Given the description of an element on the screen output the (x, y) to click on. 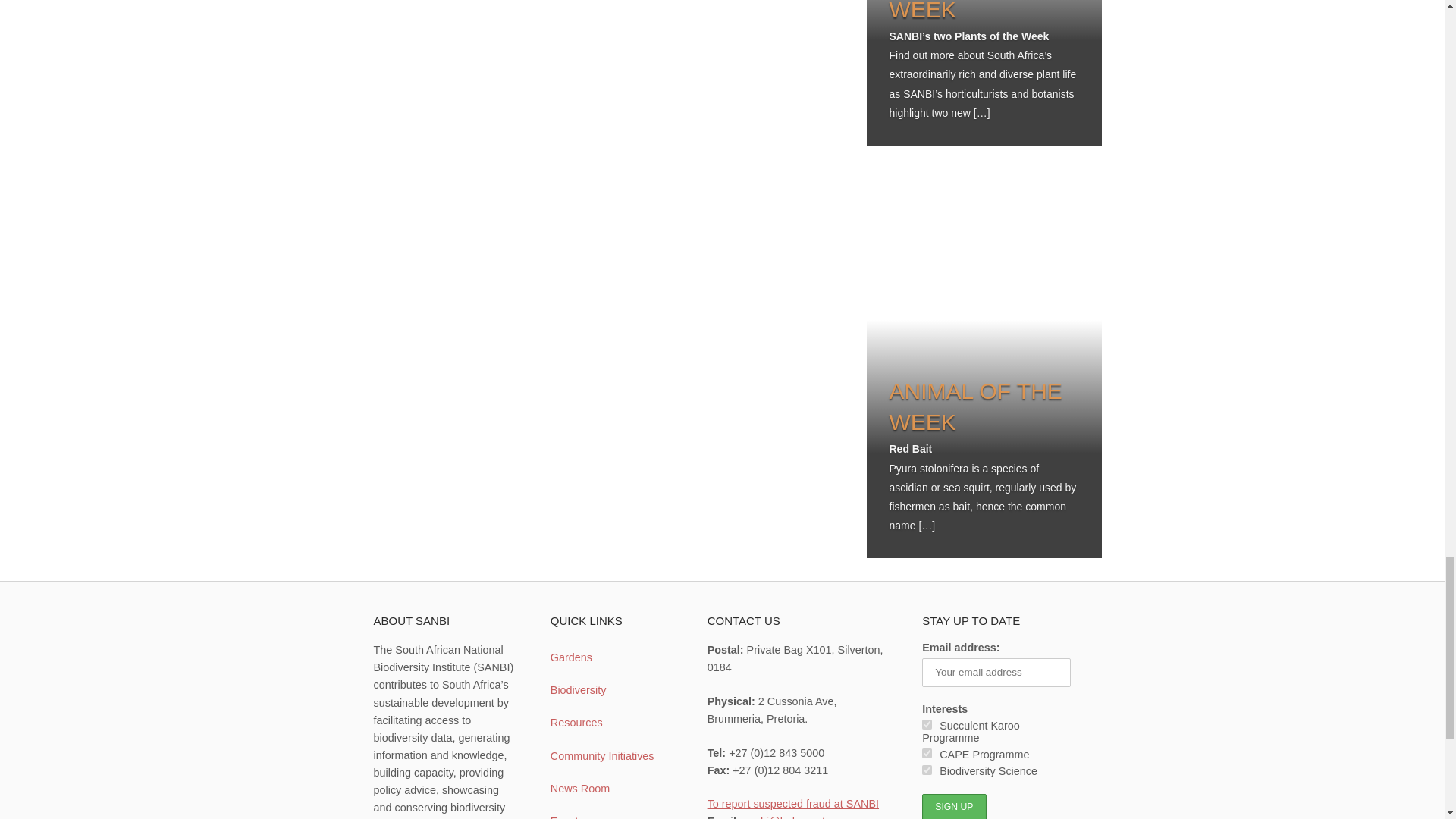
9f81b9361e (926, 769)
5ba7e66dab (926, 724)
Sign up (953, 806)
6eeeb469e4 (926, 753)
